Given the description of an element on the screen output the (x, y) to click on. 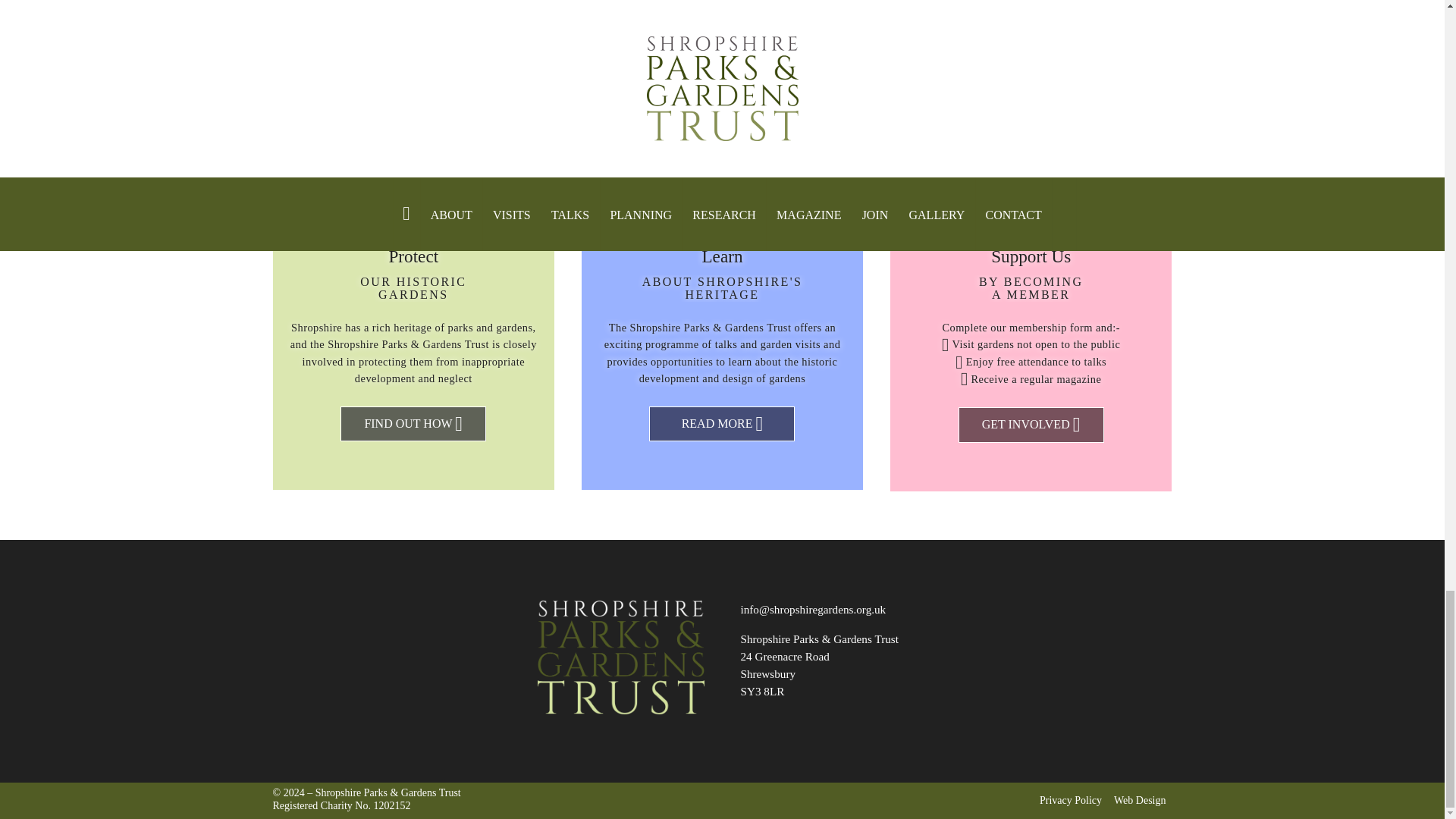
GET INVOLVED (1030, 425)
Send email (812, 608)
READ MORE (721, 424)
FIND OUT HOW (413, 424)
